Given the description of an element on the screen output the (x, y) to click on. 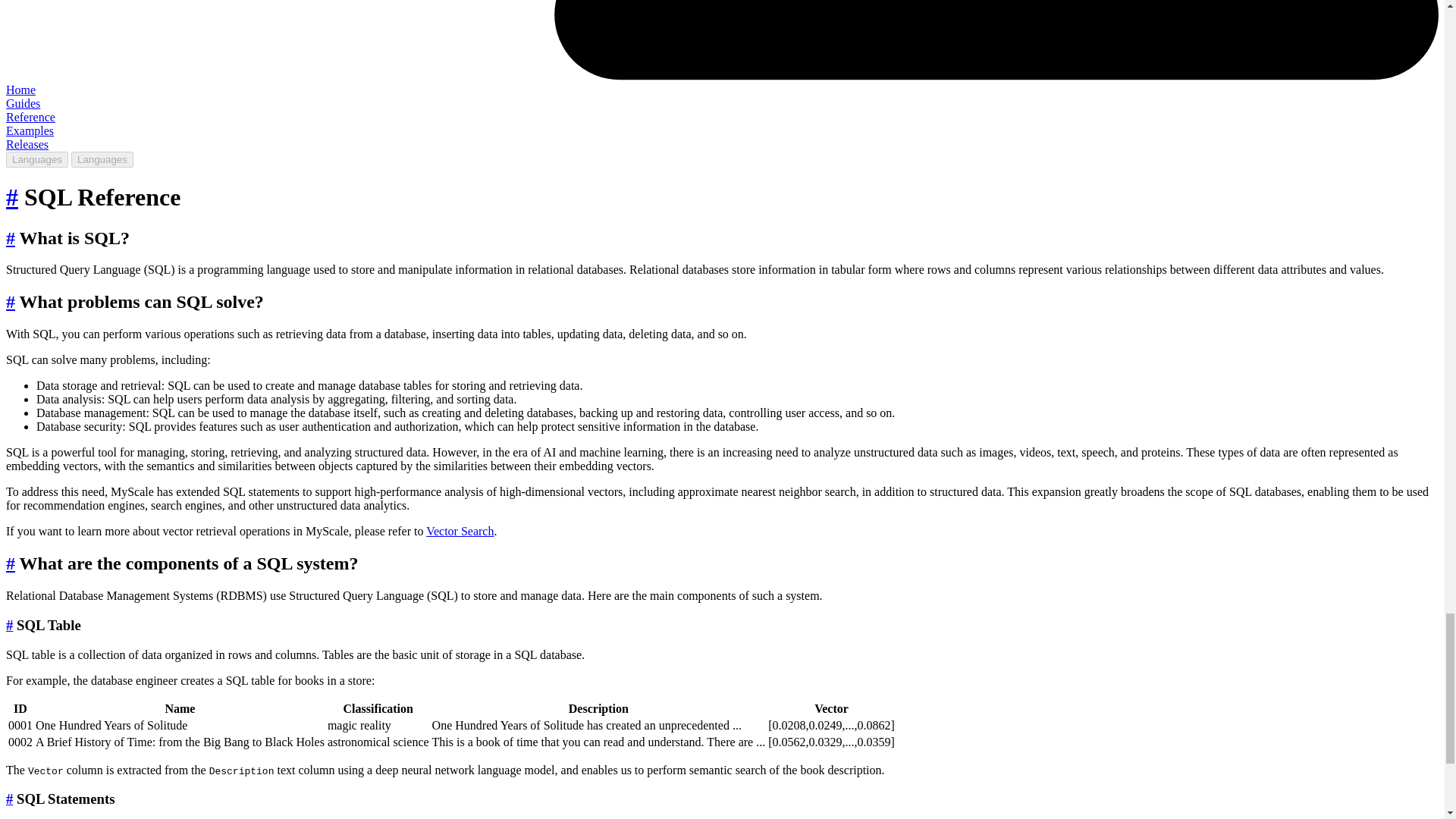
Languages (102, 159)
Home (19, 89)
Guides (22, 103)
Examples (29, 130)
Vector Search (459, 530)
Reference (30, 116)
Releases (26, 144)
Languages (36, 159)
